Given the description of an element on the screen output the (x, y) to click on. 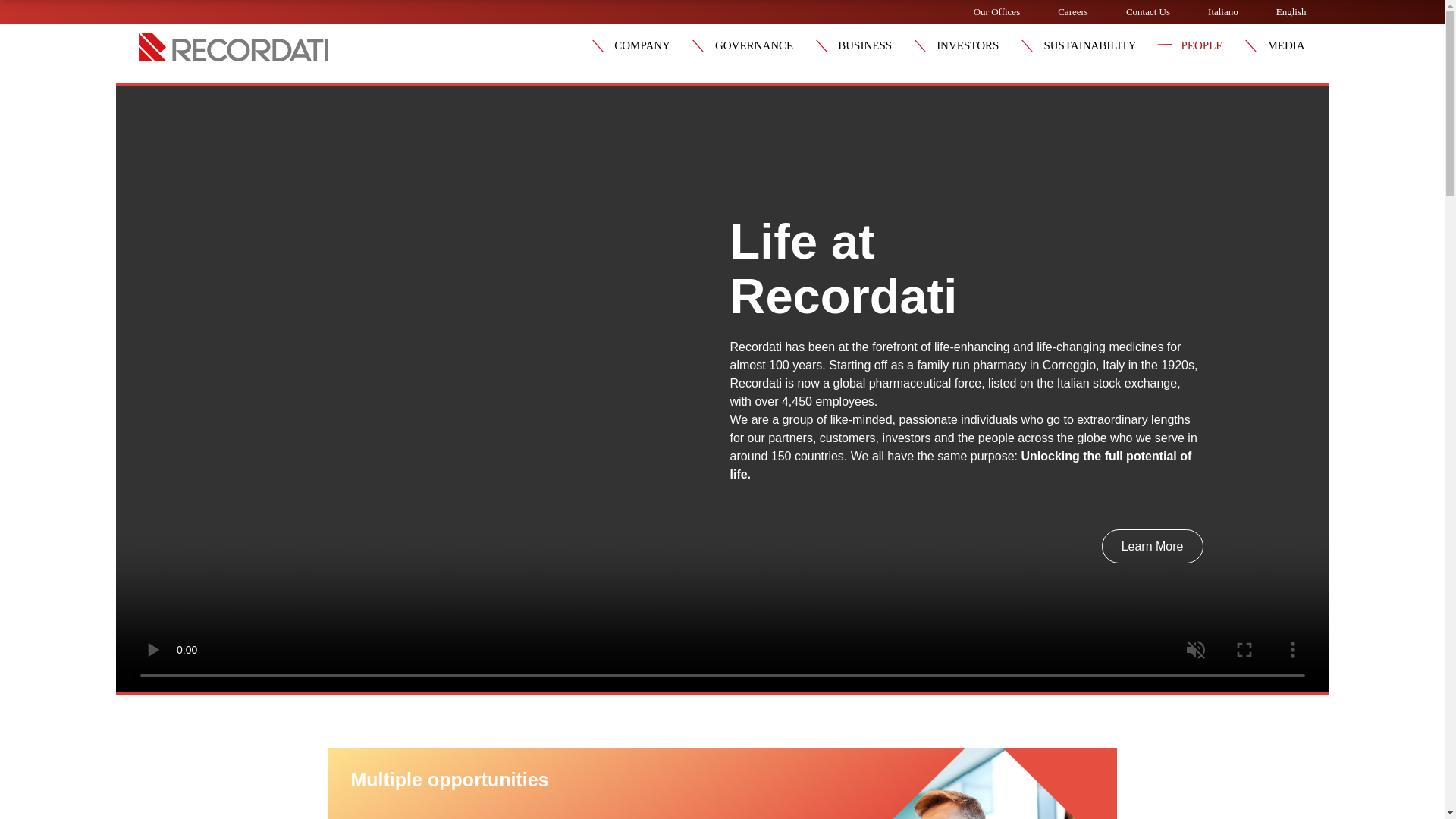
Careers (1072, 11)
GOVERNANCE (759, 45)
Contact Us (1147, 11)
Recordati Home Page (232, 56)
COMPANY (647, 45)
English (1291, 11)
Italiano (1223, 11)
Our Offices (997, 11)
